Given the description of an element on the screen output the (x, y) to click on. 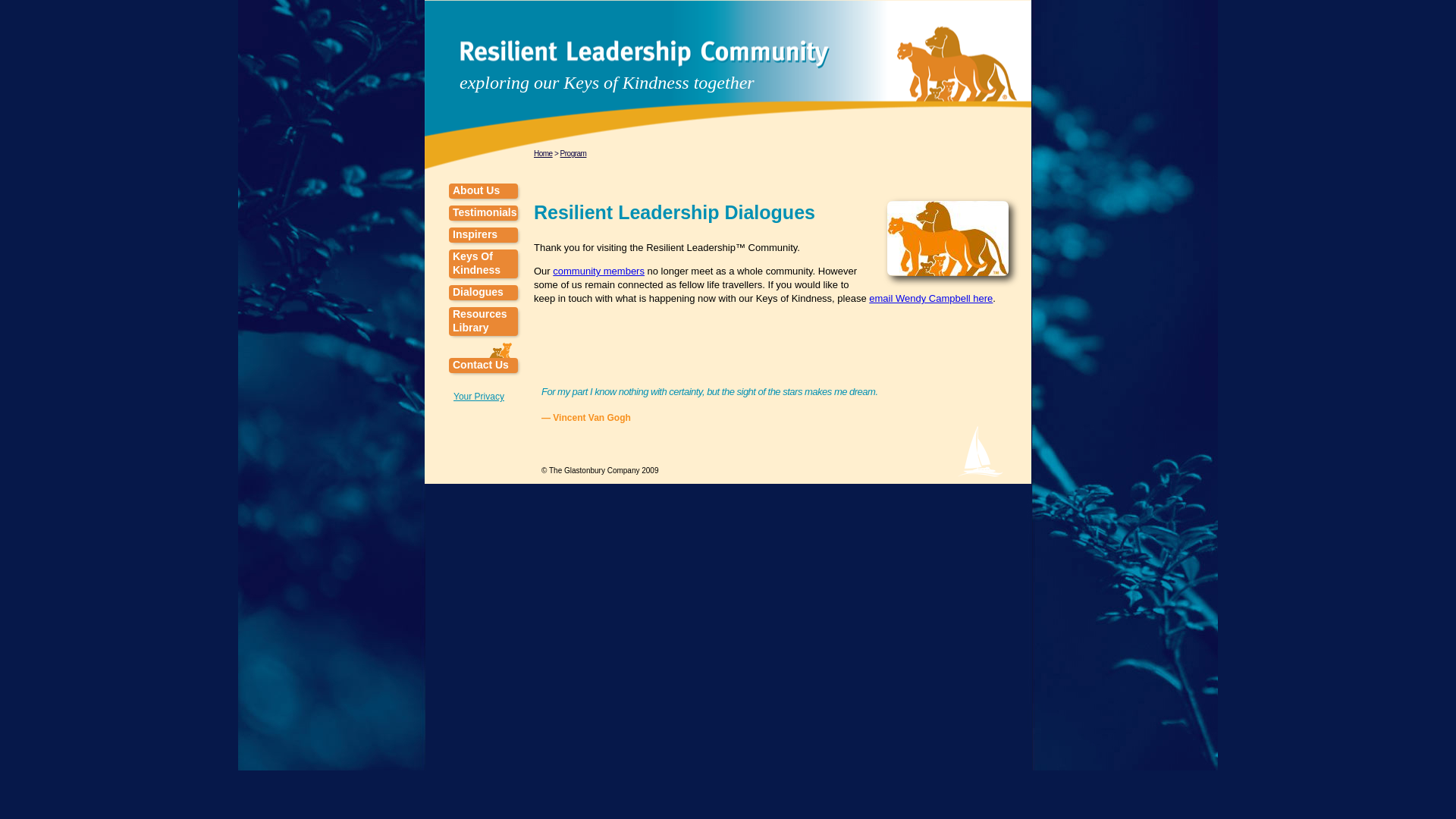
community members (599, 270)
About Us (483, 191)
email Wendy Campbell here (930, 297)
Keys Of Kindness (483, 263)
Your Privacy (477, 396)
Contact Us (483, 365)
Testimonials (483, 212)
Home (543, 153)
Inspirers (483, 234)
Program (573, 153)
Resources Library (483, 321)
Dialogues (483, 292)
